Given the description of an element on the screen output the (x, y) to click on. 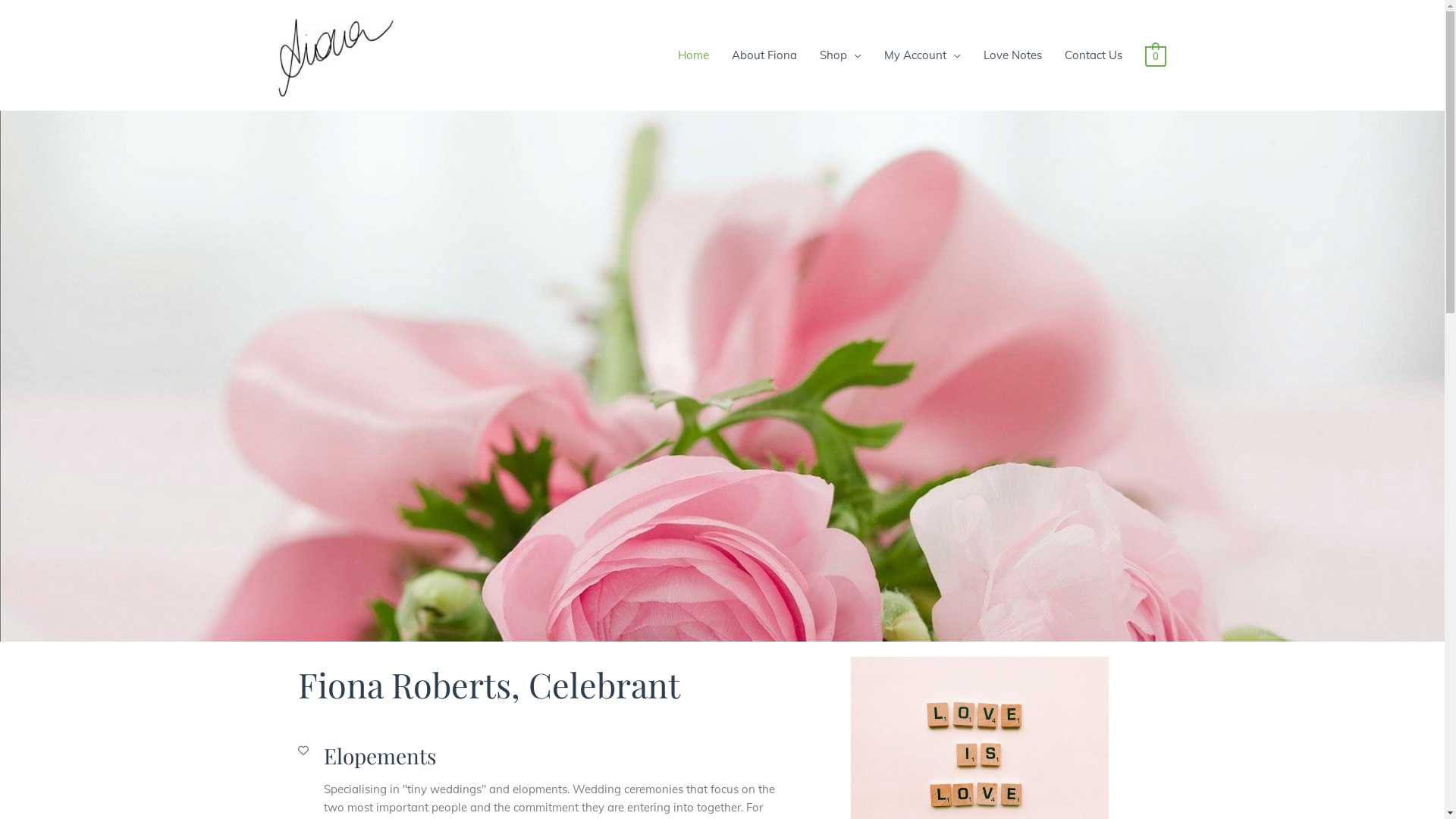
My Account Element type: text (922, 55)
0 Element type: text (1155, 55)
Love Notes Element type: text (1012, 55)
Contact Us Element type: text (1093, 55)
About Fiona Element type: text (764, 55)
Shop Element type: text (840, 55)
Home Element type: text (693, 55)
